Given the description of an element on the screen output the (x, y) to click on. 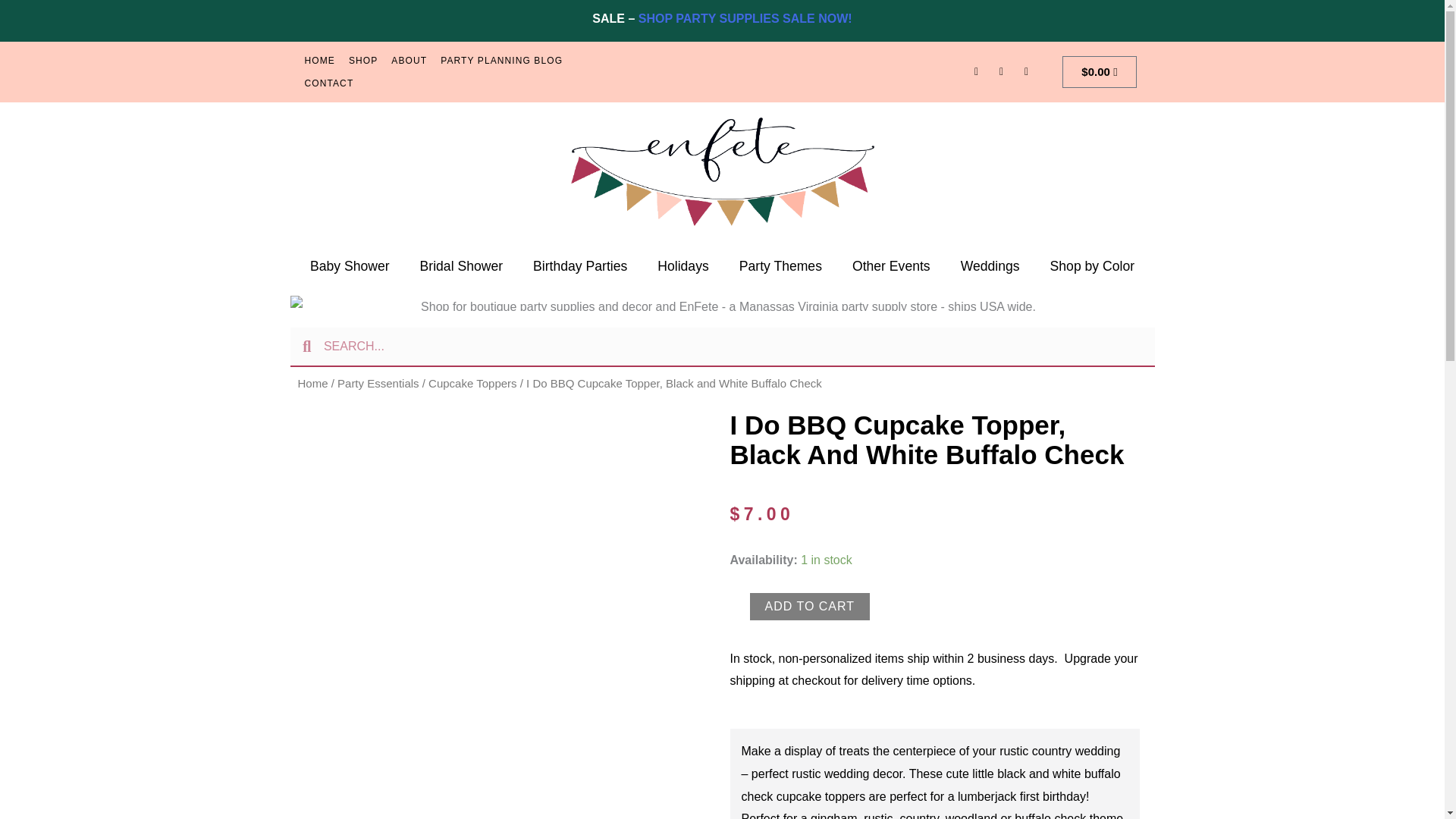
ADD TO CART (809, 605)
CONTACT (328, 83)
Shop by Color (1092, 265)
Party Essentials (378, 382)
Facebook-f (976, 71)
Instagram (1001, 71)
Bridal Shower (461, 265)
Party Themes (780, 265)
Cupcake Toppers (472, 382)
Birthday Parties (580, 265)
Home (312, 382)
Pinterest (1026, 71)
Weddings (989, 265)
ABOUT (408, 60)
PARTY PLANNING BLOG (501, 60)
